Given the description of an element on the screen output the (x, y) to click on. 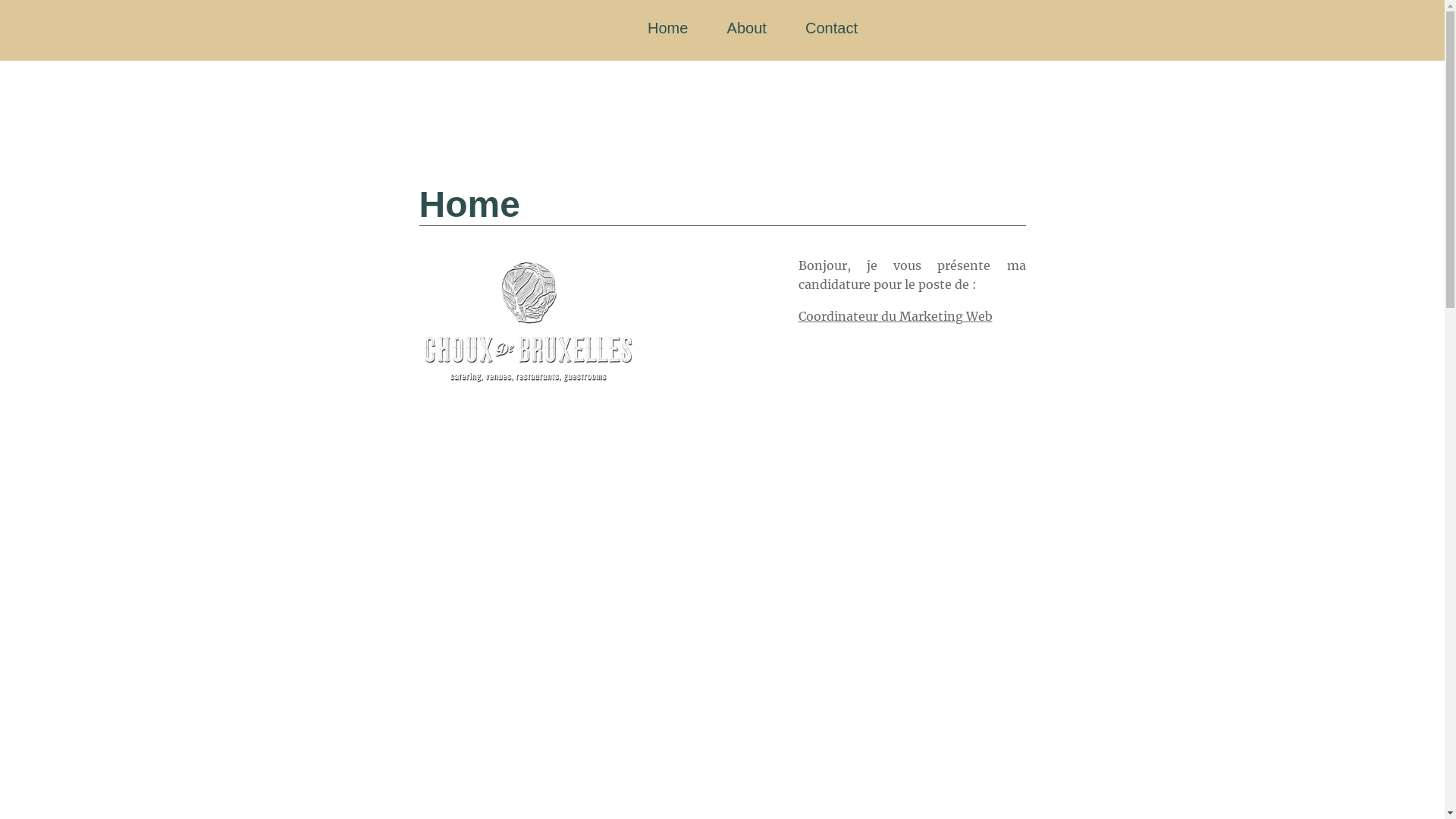
Coordinateur du Marketing Web Element type: text (894, 315)
Contact Element type: text (831, 27)
Home Element type: text (667, 27)
About Element type: text (746, 27)
